Given the description of an element on the screen output the (x, y) to click on. 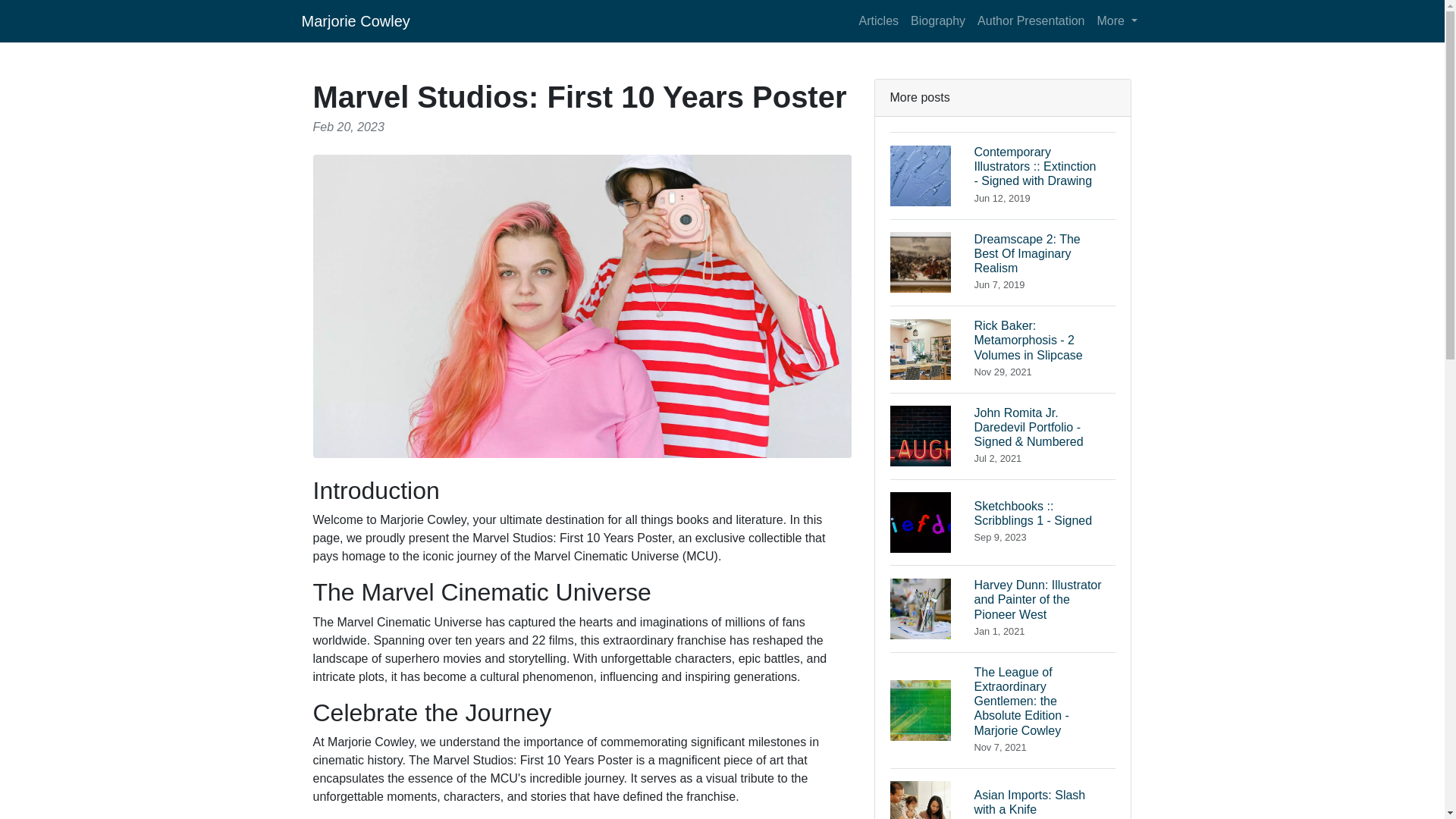
Author Presentation (1002, 262)
Biography (1030, 20)
Articles (937, 20)
More (1002, 793)
